Given the description of an element on the screen output the (x, y) to click on. 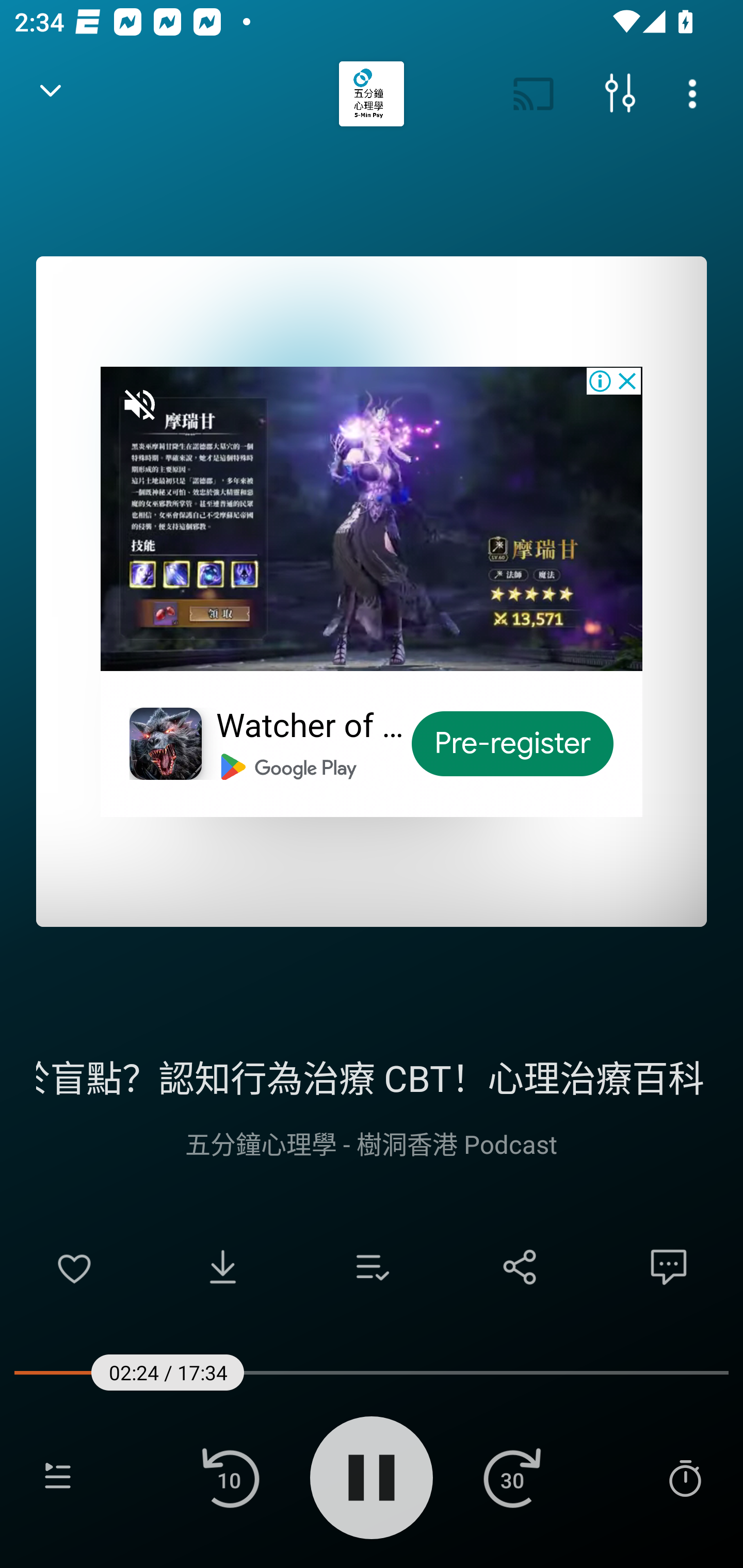
Cast. Disconnected (533, 93)
 Back (50, 94)
Watcher of … Pre-register Pre-register (371, 590)
Pre-register (512, 743)
#PSY｜困擾源於盲點？認知行為治療 CBT！心理治療百科（一）｜#五分鐘心理學 (371, 1075)
五分鐘心理學 - 樹洞香港 Podcast (371, 1142)
Comments (668, 1266)
Add to Favorites (73, 1266)
Add to playlist (371, 1266)
Share (519, 1266)
 Playlist (57, 1477)
Sleep Timer  (684, 1477)
